Given the description of an element on the screen output the (x, y) to click on. 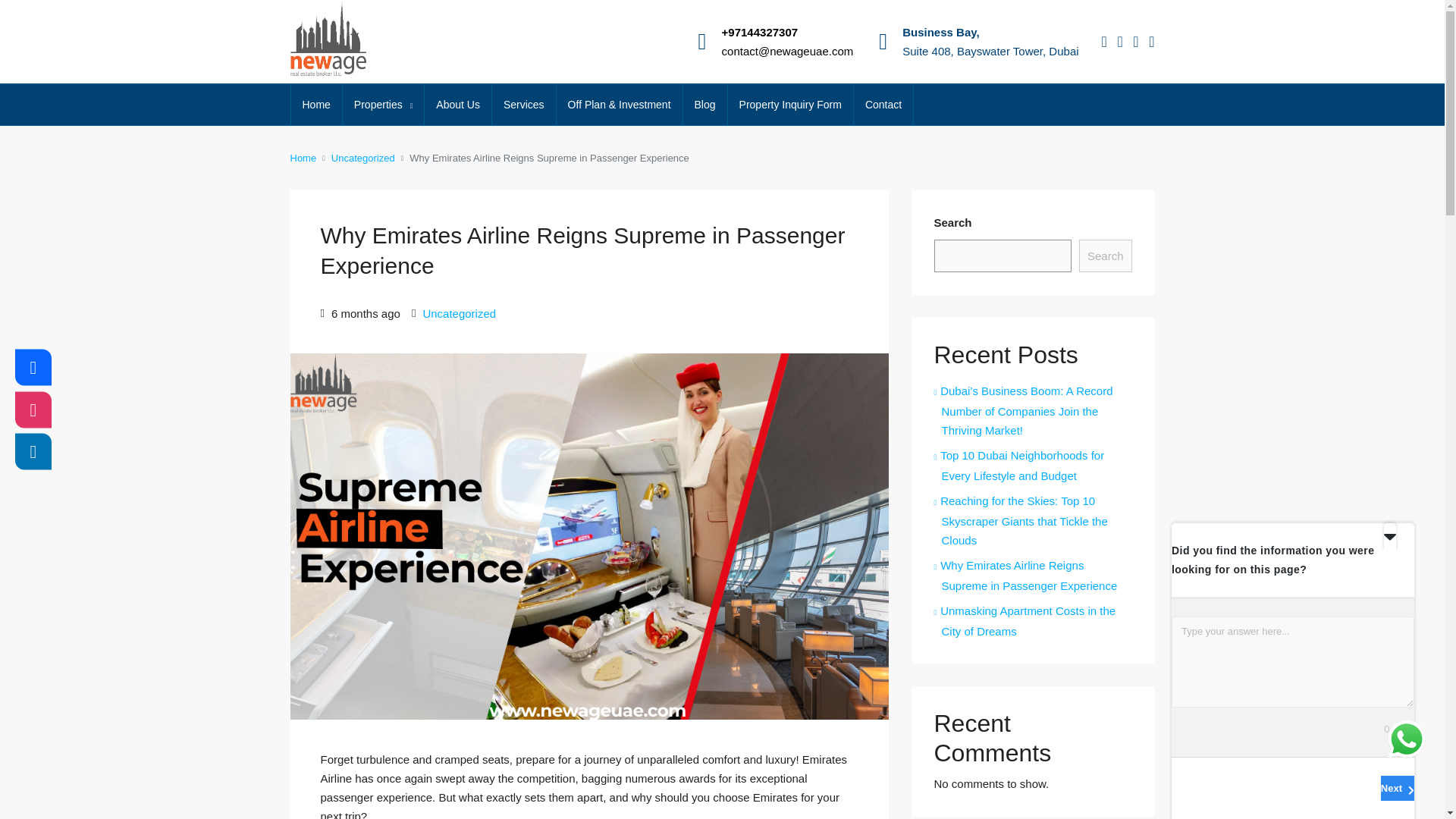
About Us (458, 104)
Property Inquiry Form (790, 104)
Home (316, 104)
Services (524, 104)
LinkedIn (32, 452)
Facebook (32, 366)
Contact (882, 104)
Blog (704, 104)
WhatsApp us (1406, 739)
Properties (382, 105)
Instagram (32, 409)
